Given the description of an element on the screen output the (x, y) to click on. 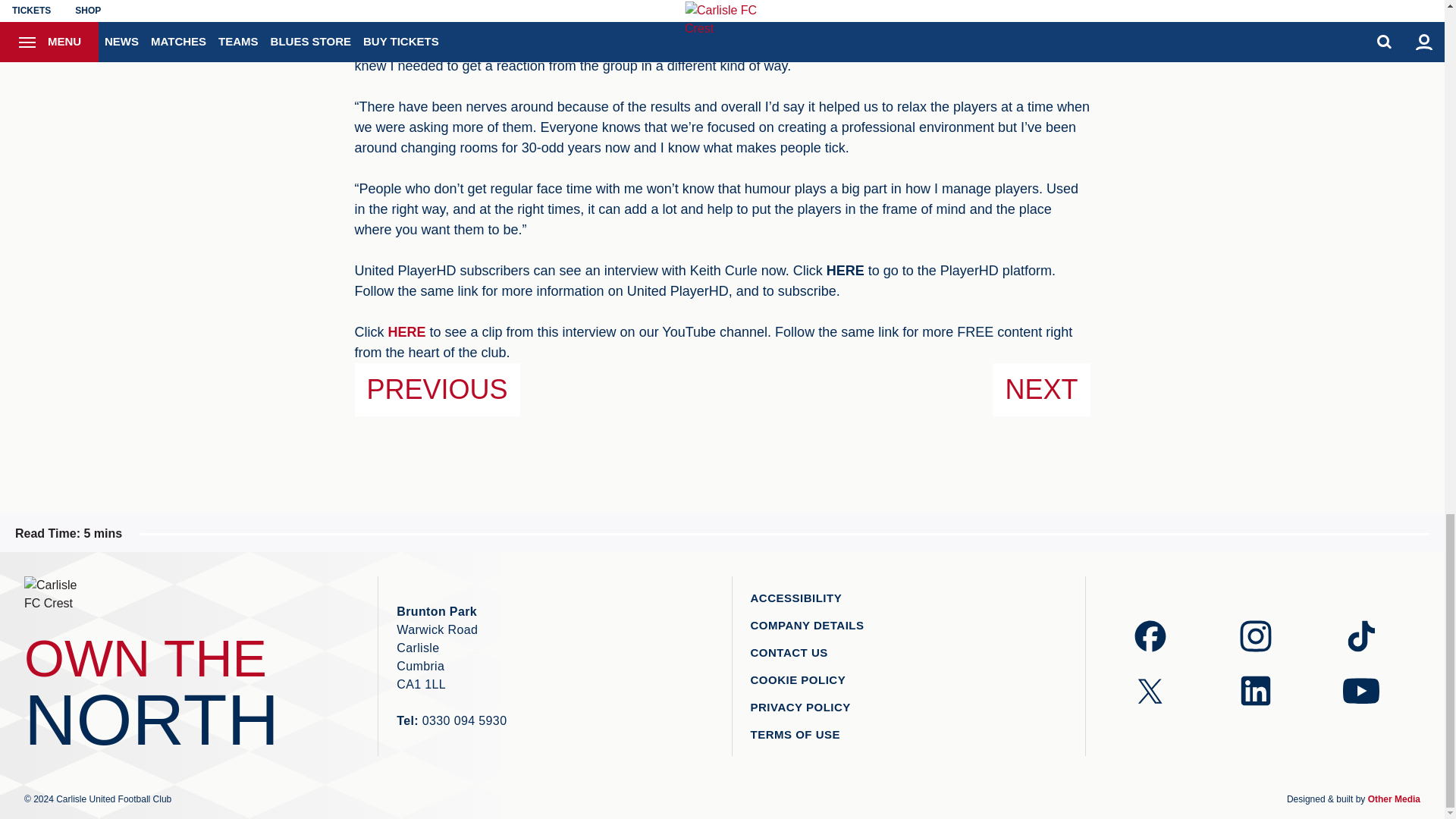
YouTube (407, 331)
